Given the description of an element on the screen output the (x, y) to click on. 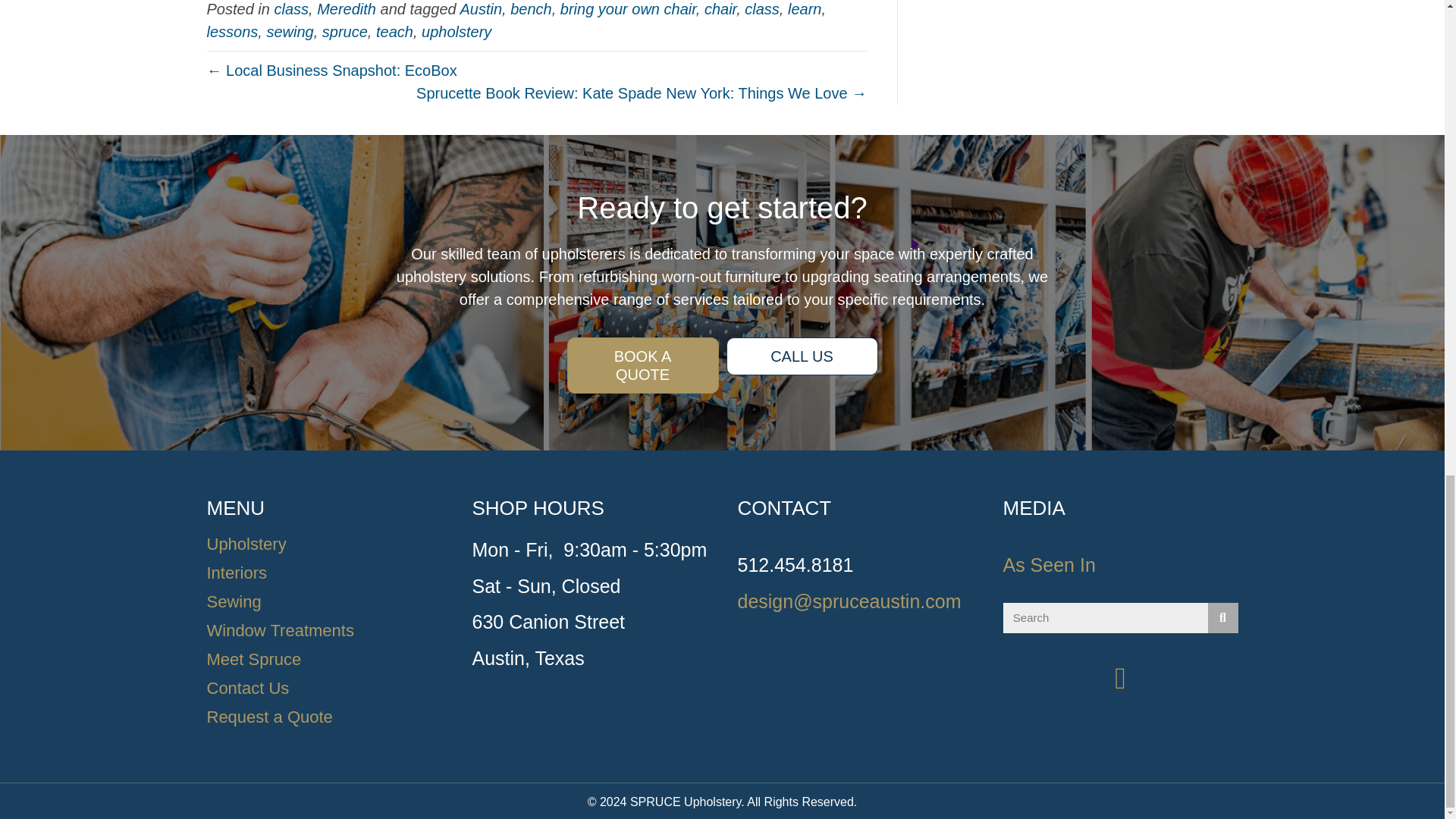
lessons (231, 30)
learn (804, 8)
Search (1105, 617)
spruce (344, 30)
Austin (481, 8)
bring your own chair (627, 8)
Instagram (1120, 678)
Meredith (346, 8)
bench (531, 8)
teach (394, 30)
upholstery (457, 30)
class (761, 8)
class (290, 8)
chair (720, 8)
sewing (289, 30)
